Given the description of an element on the screen output the (x, y) to click on. 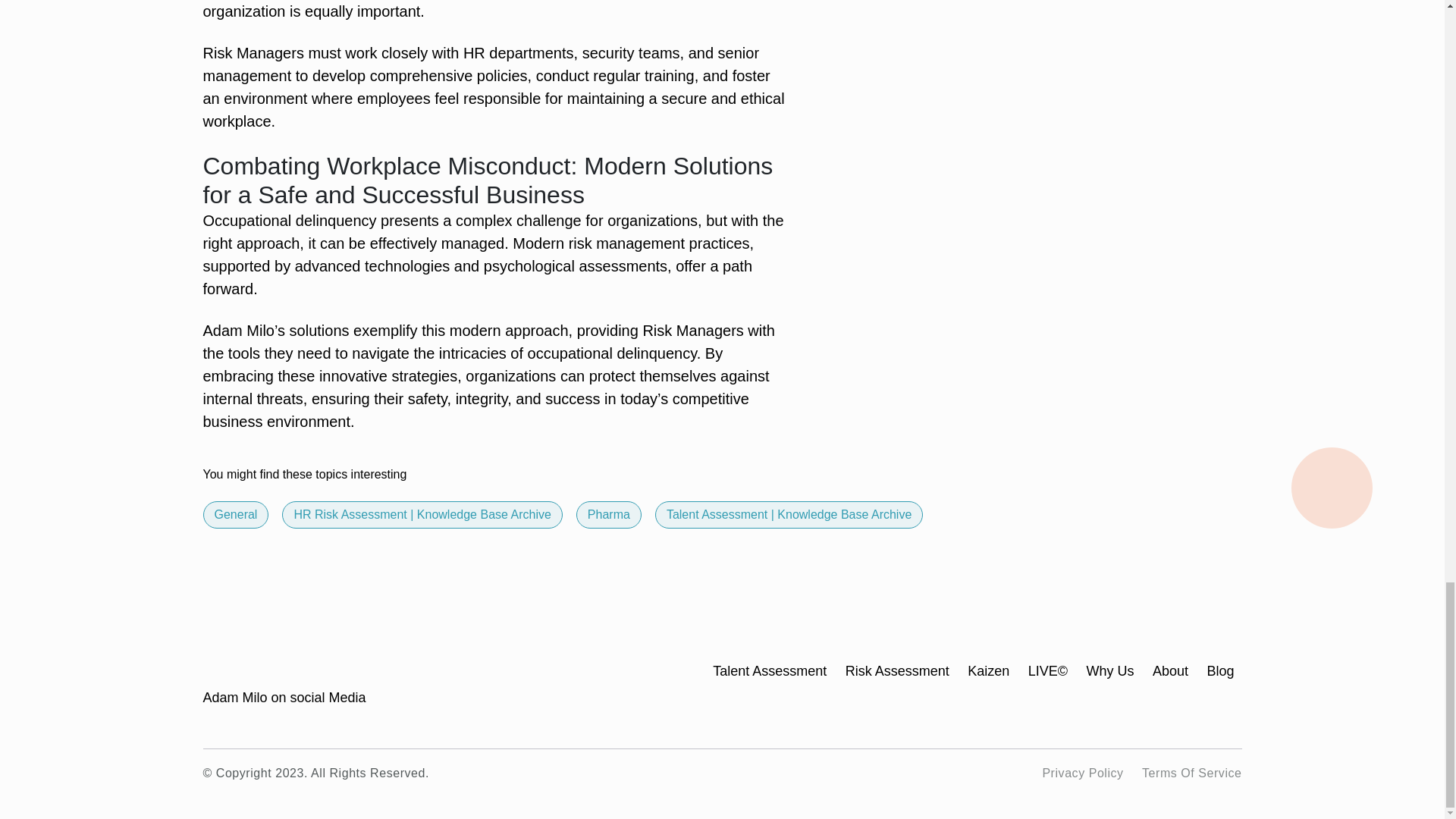
General (235, 513)
Why Us (1110, 670)
About (1170, 670)
Pharma (609, 513)
Risk Assessment (897, 670)
Kaizen (988, 670)
Talent Assessment (770, 670)
